Given the description of an element on the screen output the (x, y) to click on. 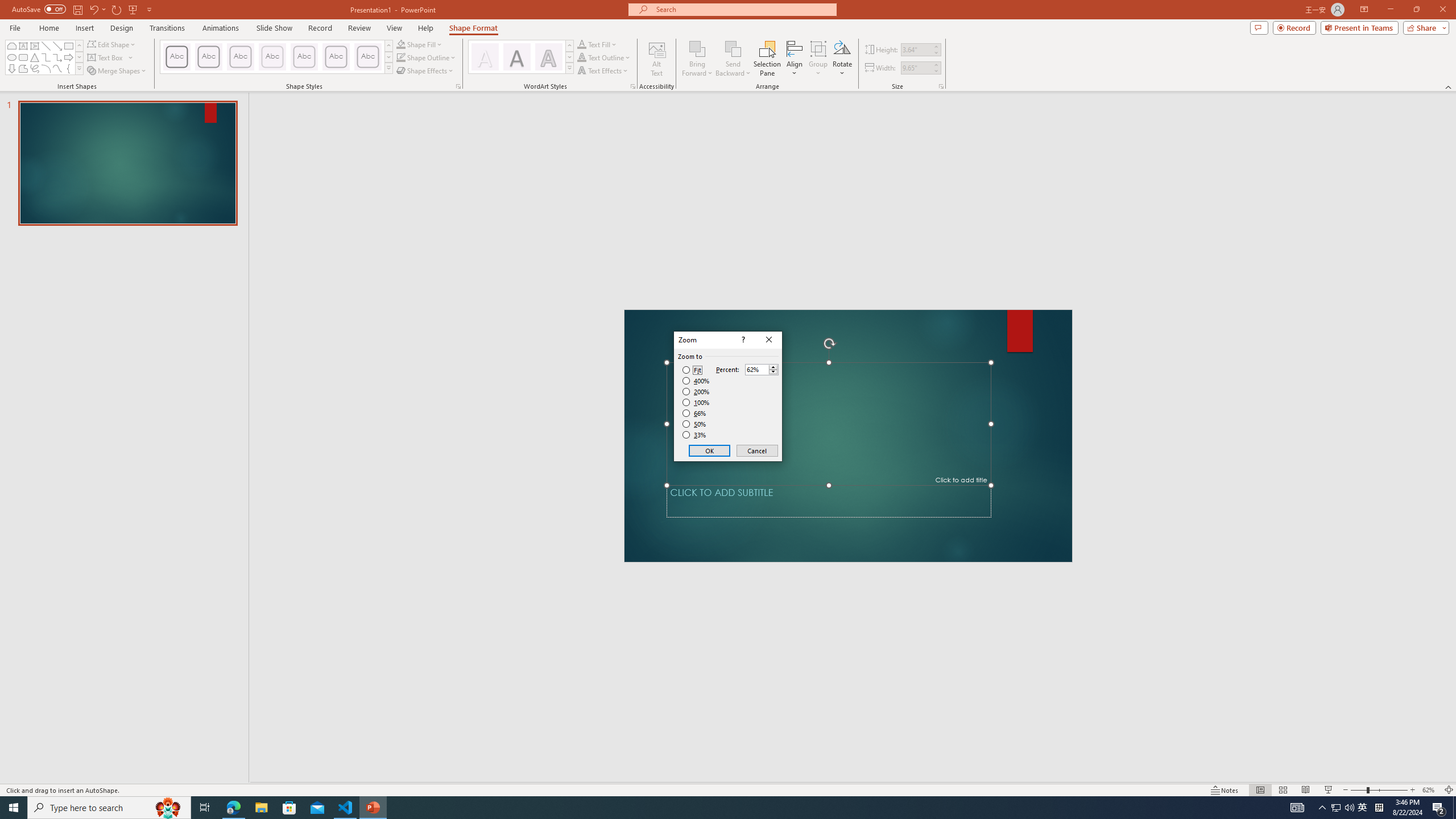
Fill: Dark Red, Accent color 1; Shadow (516, 56)
Shape Width (915, 67)
Fill: White, Text color 1; Shadow (484, 56)
Colored Outline - Dark Red, Accent 1 (208, 56)
50% (694, 424)
